Given the description of an element on the screen output the (x, y) to click on. 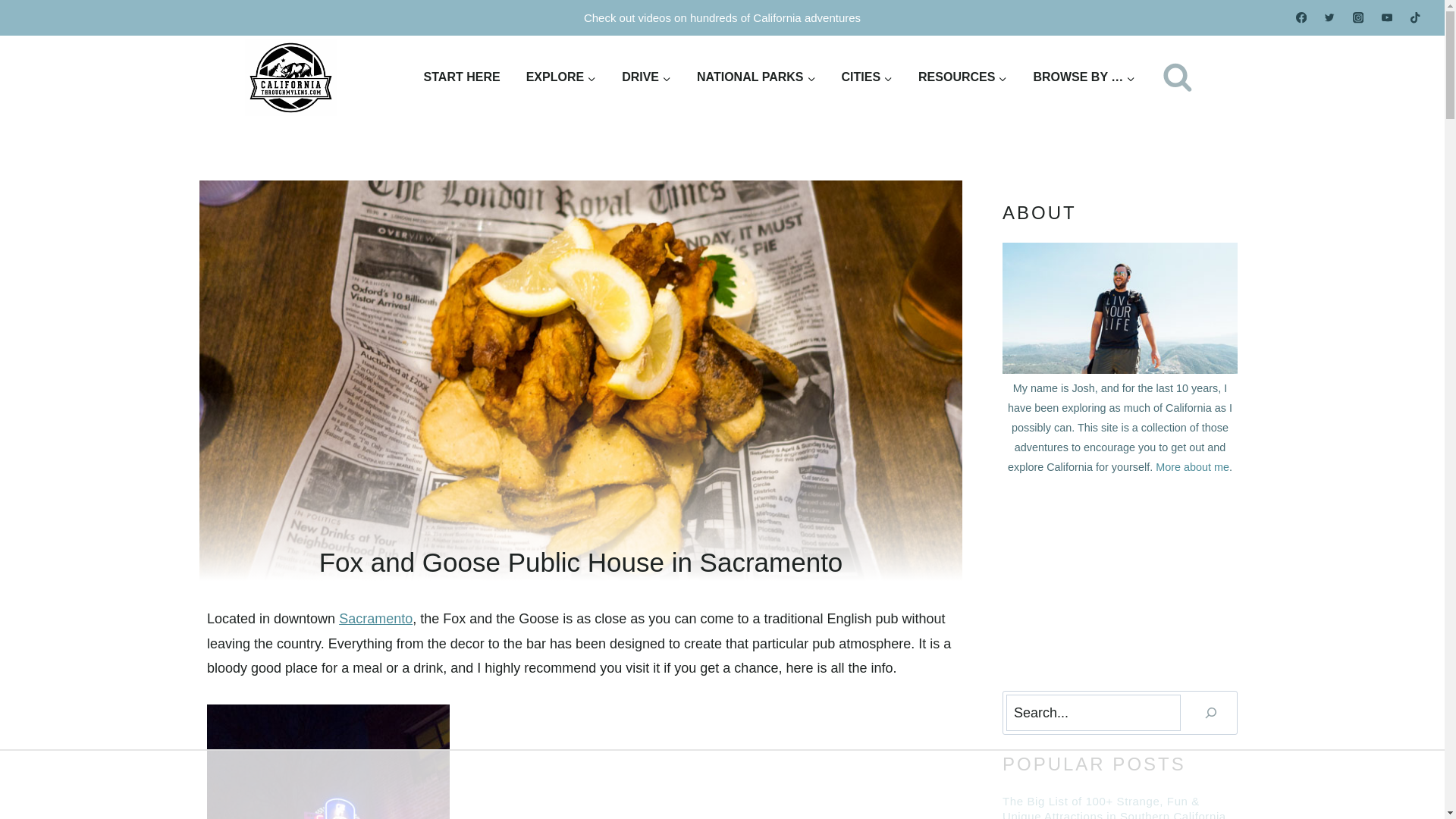
Check out videos on hundreds of California adventures (721, 17)
START HERE (461, 77)
NATIONAL PARKS (756, 77)
DRIVE (646, 77)
EXPLORE (560, 77)
CITIES (866, 77)
